Given the description of an element on the screen output the (x, y) to click on. 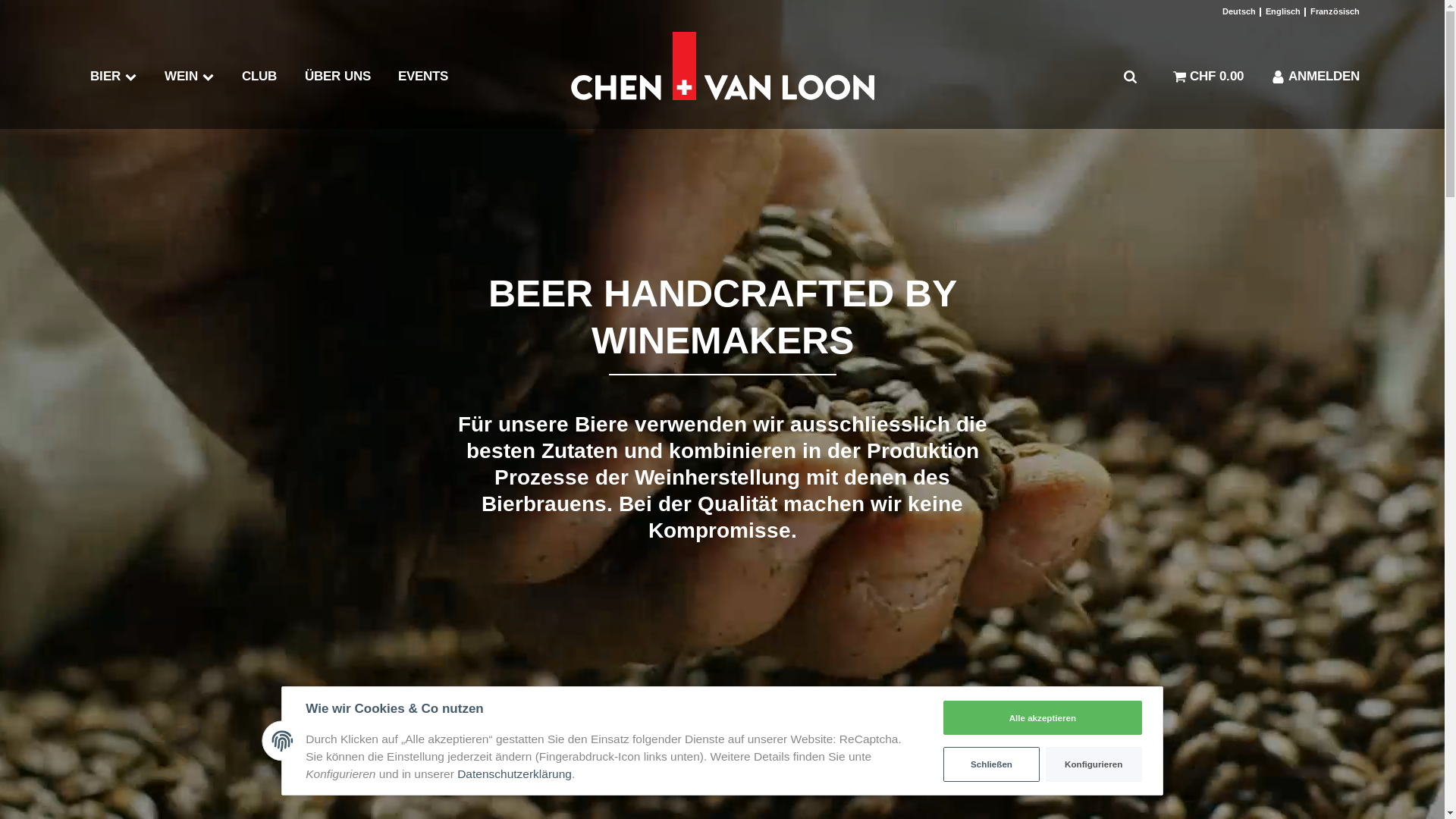
Englisch Element type: text (1281, 11)
Deutsch Element type: text (1238, 11)
  CHF 0.00 Element type: text (1208, 76)
WEIN Element type: text (189, 76)
CLUB Element type: text (259, 76)
BIER Element type: text (112, 76)
chenvanloon.ch Element type: hover (721, 76)
EVENTS Element type: text (422, 76)
ANMELDEN Element type: text (1307, 76)
Alle akzeptieren Element type: text (1042, 717)
Konfigurieren Element type: text (1093, 763)
